Given the description of an element on the screen output the (x, y) to click on. 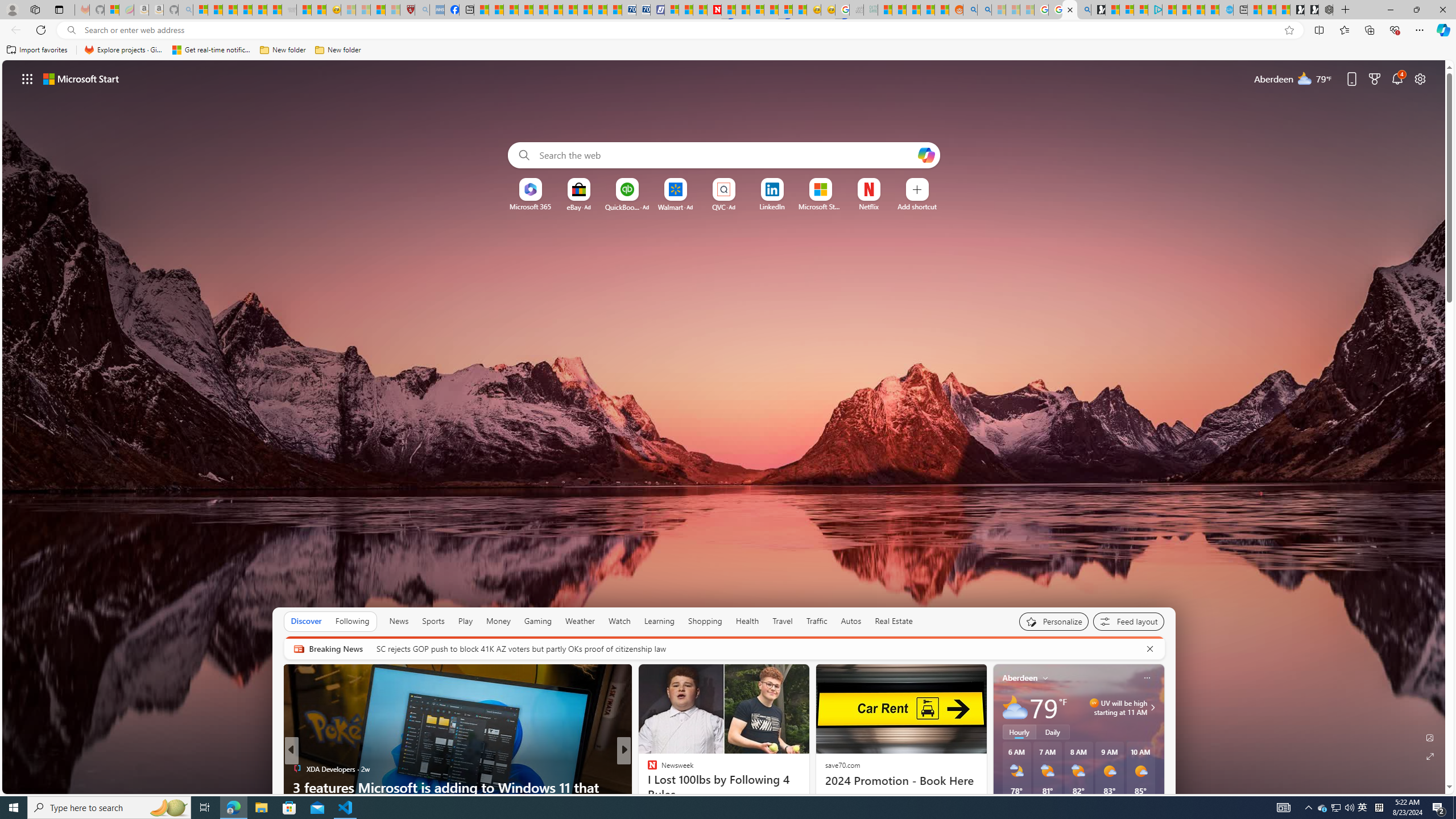
Daily (1052, 731)
Learning (659, 621)
Travel (782, 621)
Hourly (1018, 731)
UV will be high starting at 11 AM (1150, 707)
12 Popular Science Lies that Must be Corrected - Sleeping (392, 9)
Robert H. Shmerling, MD - Harvard Health (406, 9)
Popular Mechanics (647, 768)
